Given the description of an element on the screen output the (x, y) to click on. 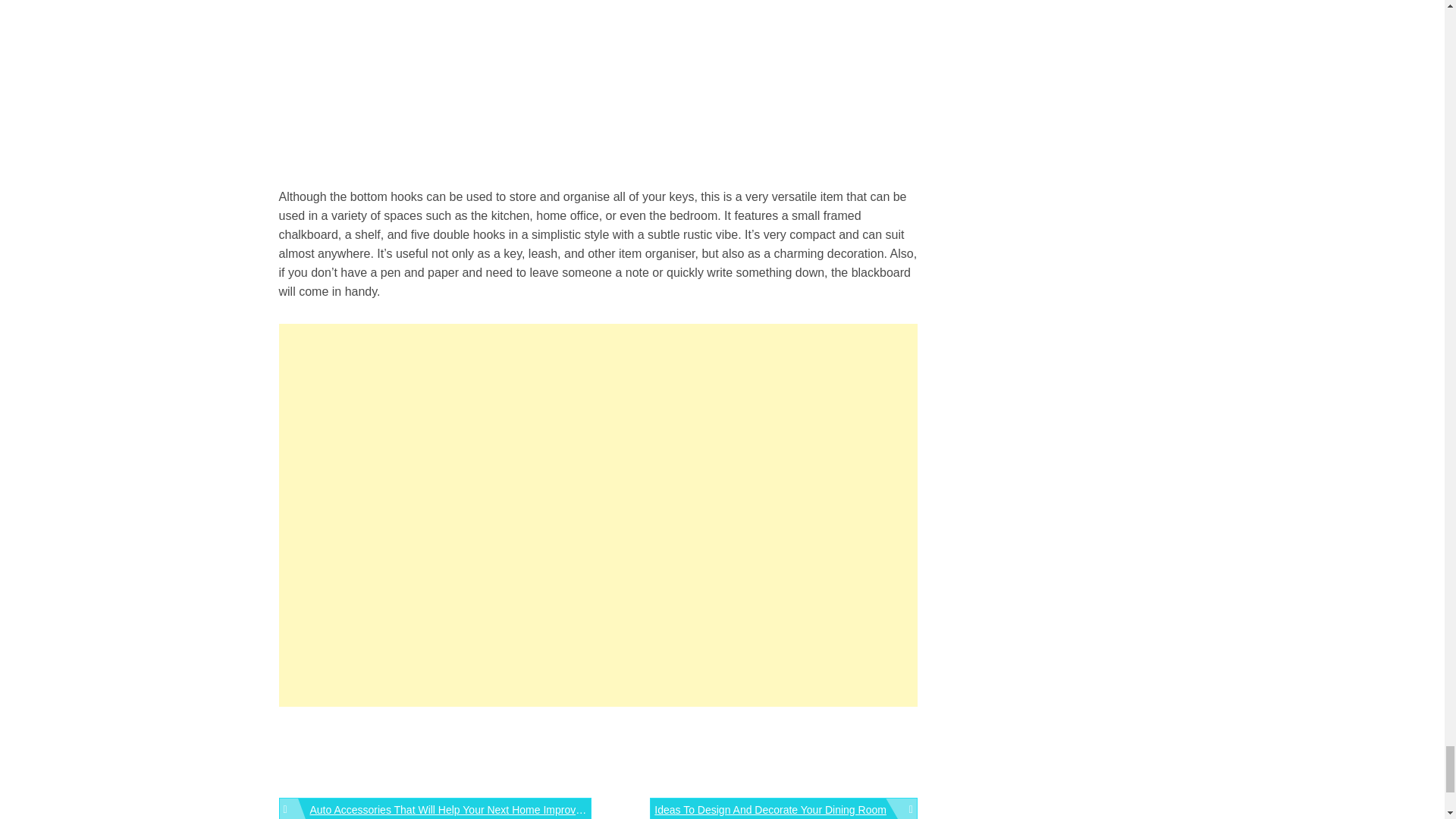
Ideas To Design And Decorate Your Dining Room (783, 808)
